Given the description of an element on the screen output the (x, y) to click on. 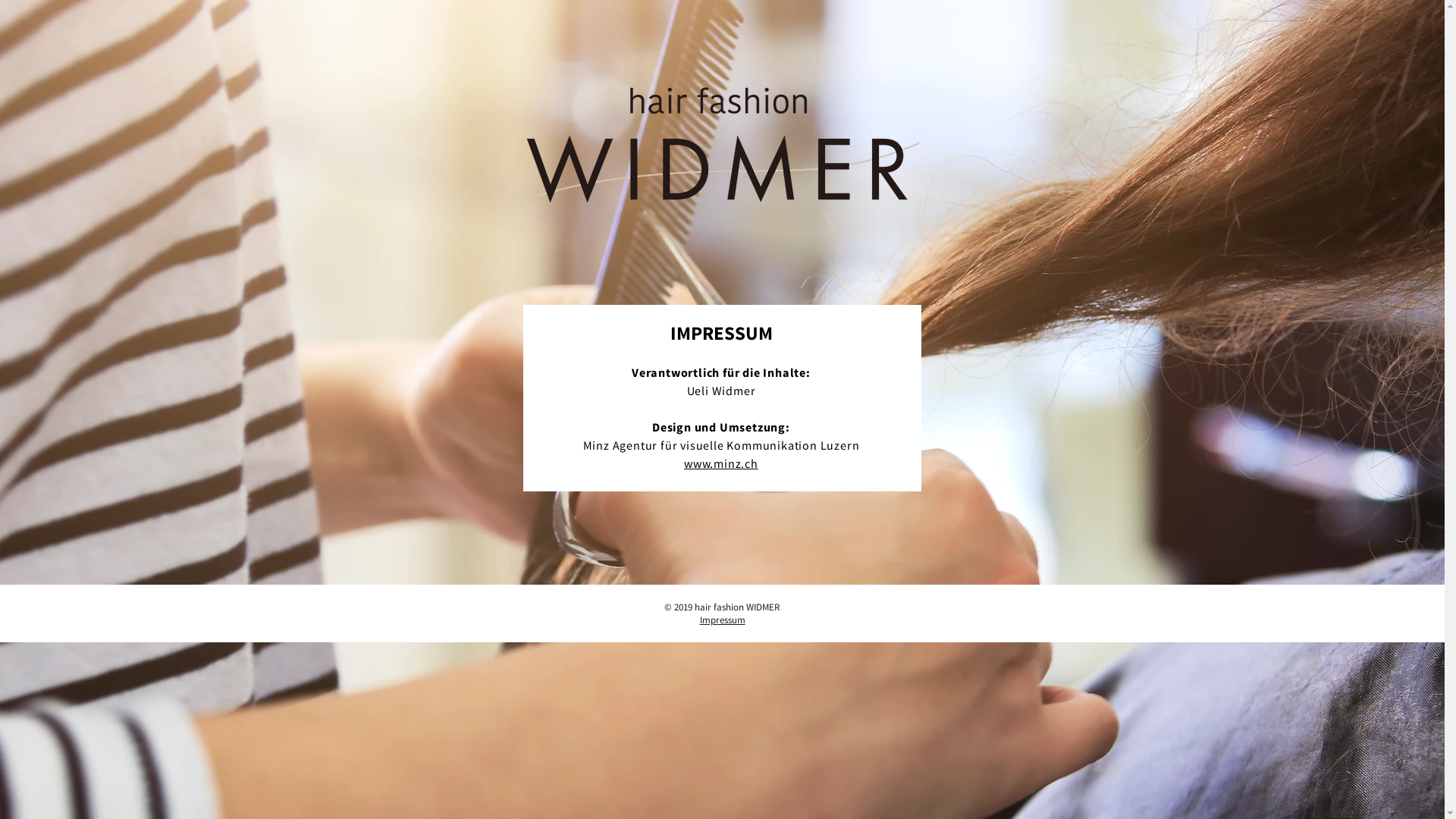
www.minz.ch Element type: text (721, 462)
Impressum Element type: text (721, 619)
